Given the description of an element on the screen output the (x, y) to click on. 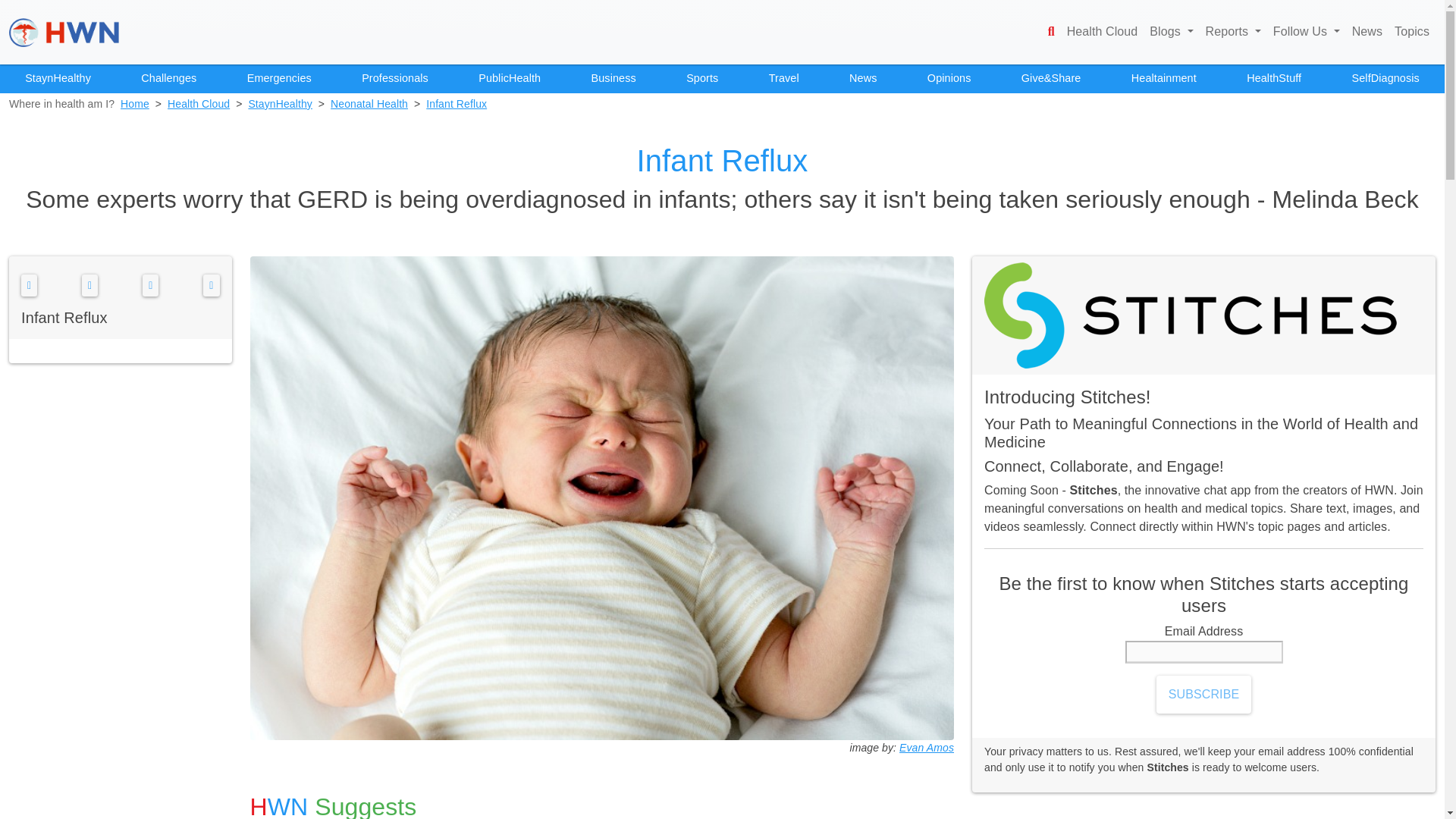
Opinions (948, 78)
Challenges (168, 78)
Health Cloud (1102, 32)
Reports (1232, 32)
Subscribe (1203, 694)
StaynHealthy (58, 78)
Travel (784, 78)
Follow Us (1305, 32)
News (863, 78)
Sports (702, 78)
Business (613, 78)
PublicHealth (509, 78)
Blogs (1170, 32)
